Given the description of an element on the screen output the (x, y) to click on. 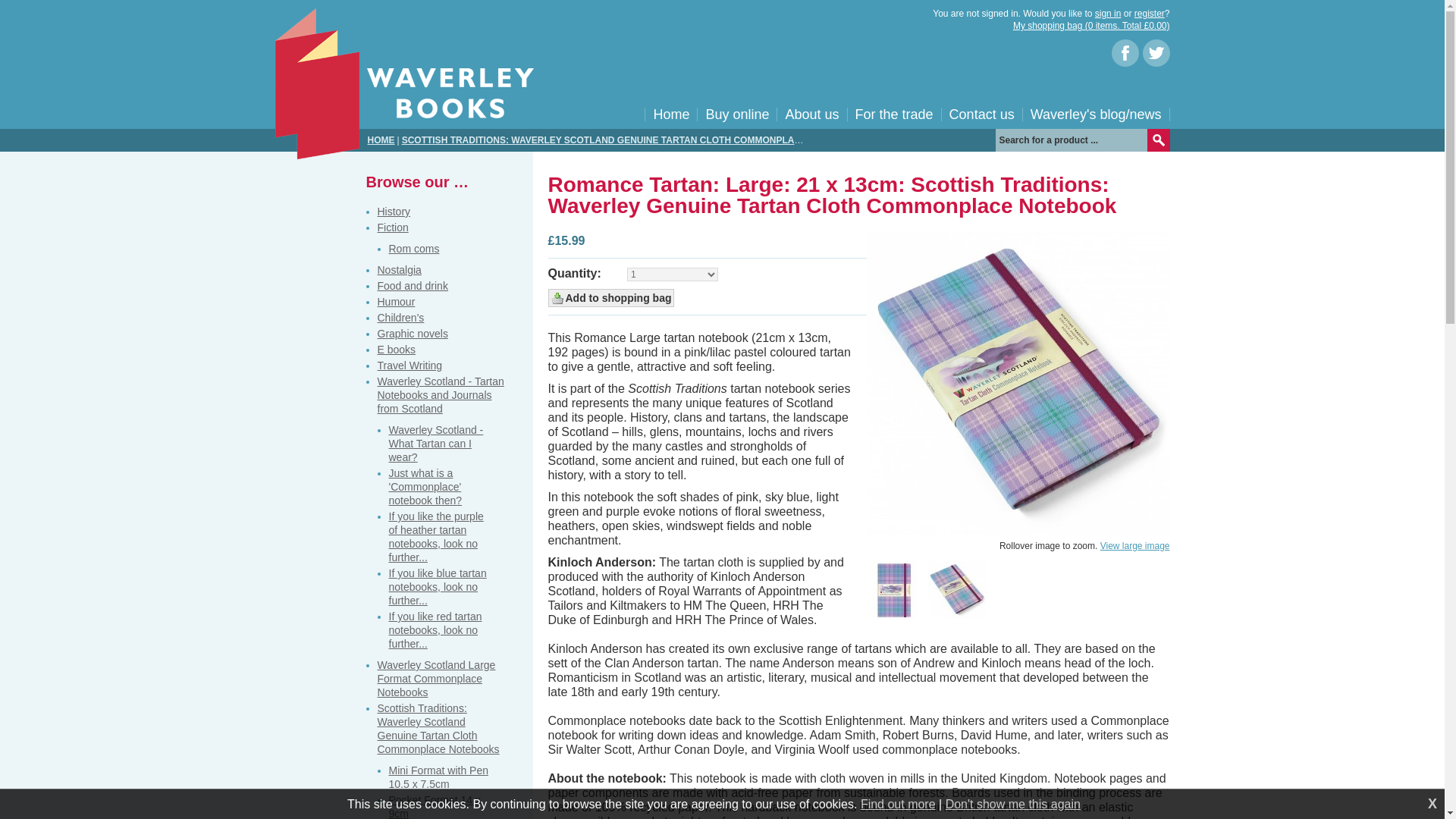
Buy online (736, 114)
Add to shopping bag (610, 298)
sign in (1107, 13)
Search for a product ... (1070, 139)
register (1149, 13)
Home (671, 114)
